Given the description of an element on the screen output the (x, y) to click on. 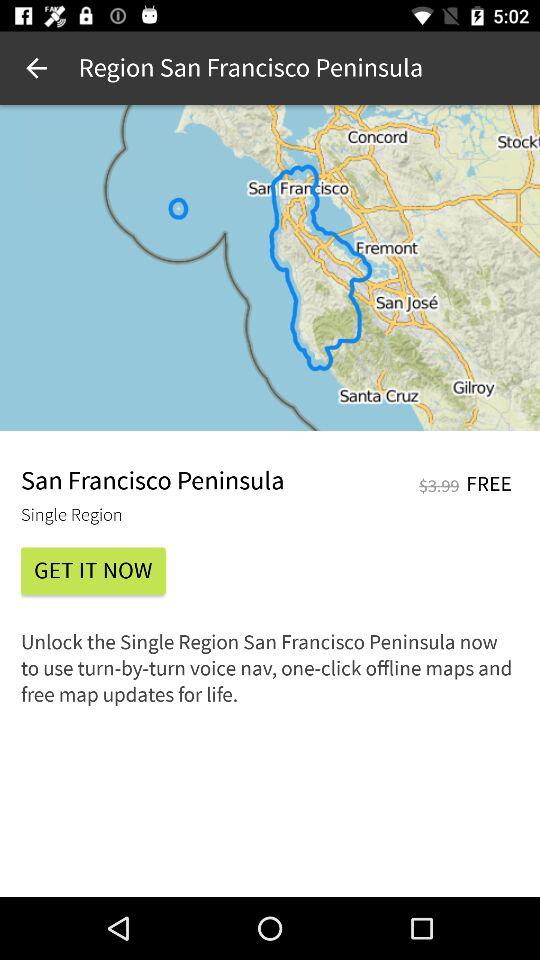
press the item below single region item (93, 570)
